Given the description of an element on the screen output the (x, y) to click on. 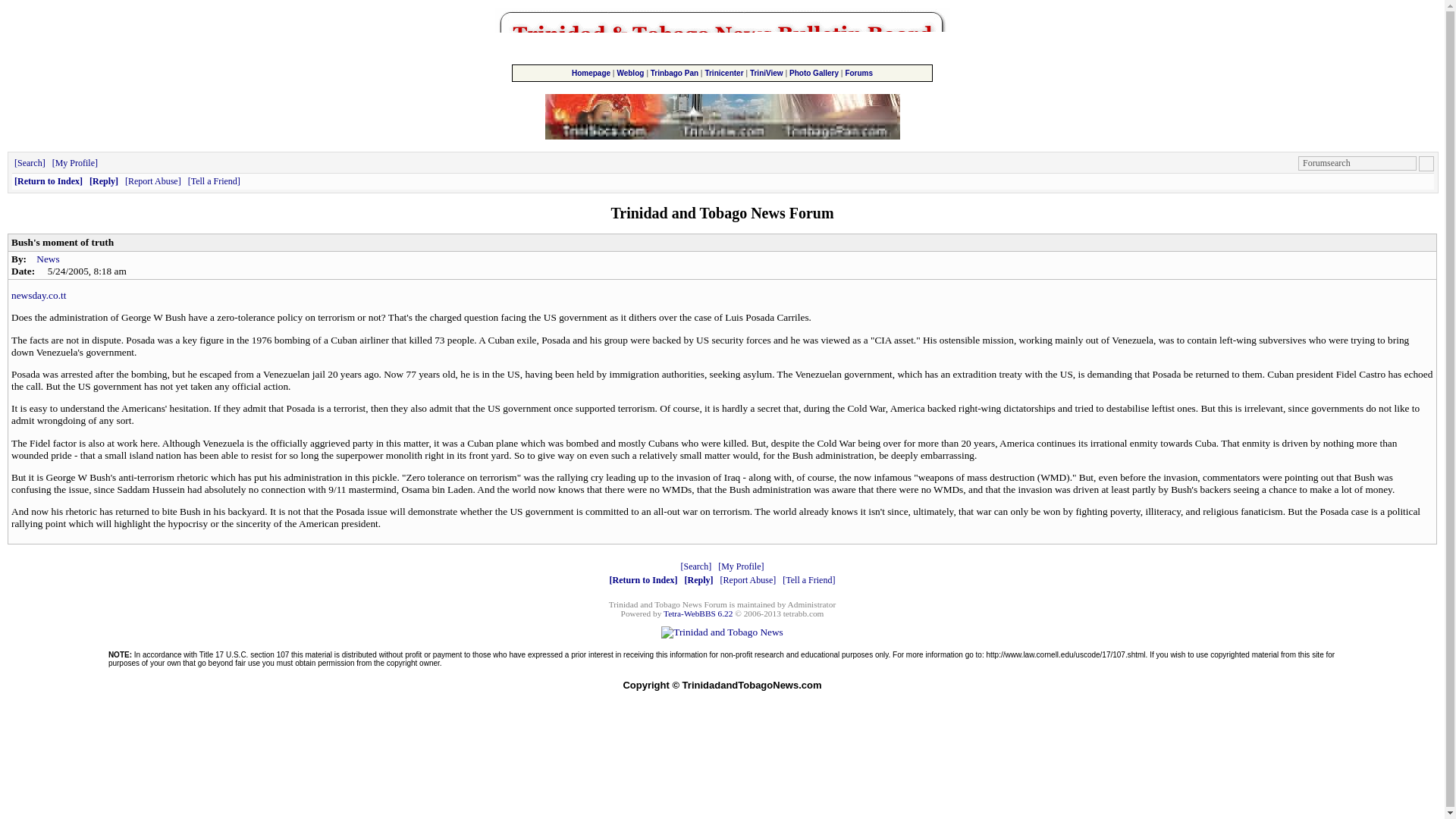
Trinicenter (723, 72)
My Profile (74, 163)
Tell a Friend (213, 181)
Report Abuse (152, 181)
Reply (102, 181)
Search (29, 163)
 Forumsearch (1357, 163)
newsday.co.tt (38, 295)
Forums (858, 72)
Tell a Friend (808, 579)
